Given the description of an element on the screen output the (x, y) to click on. 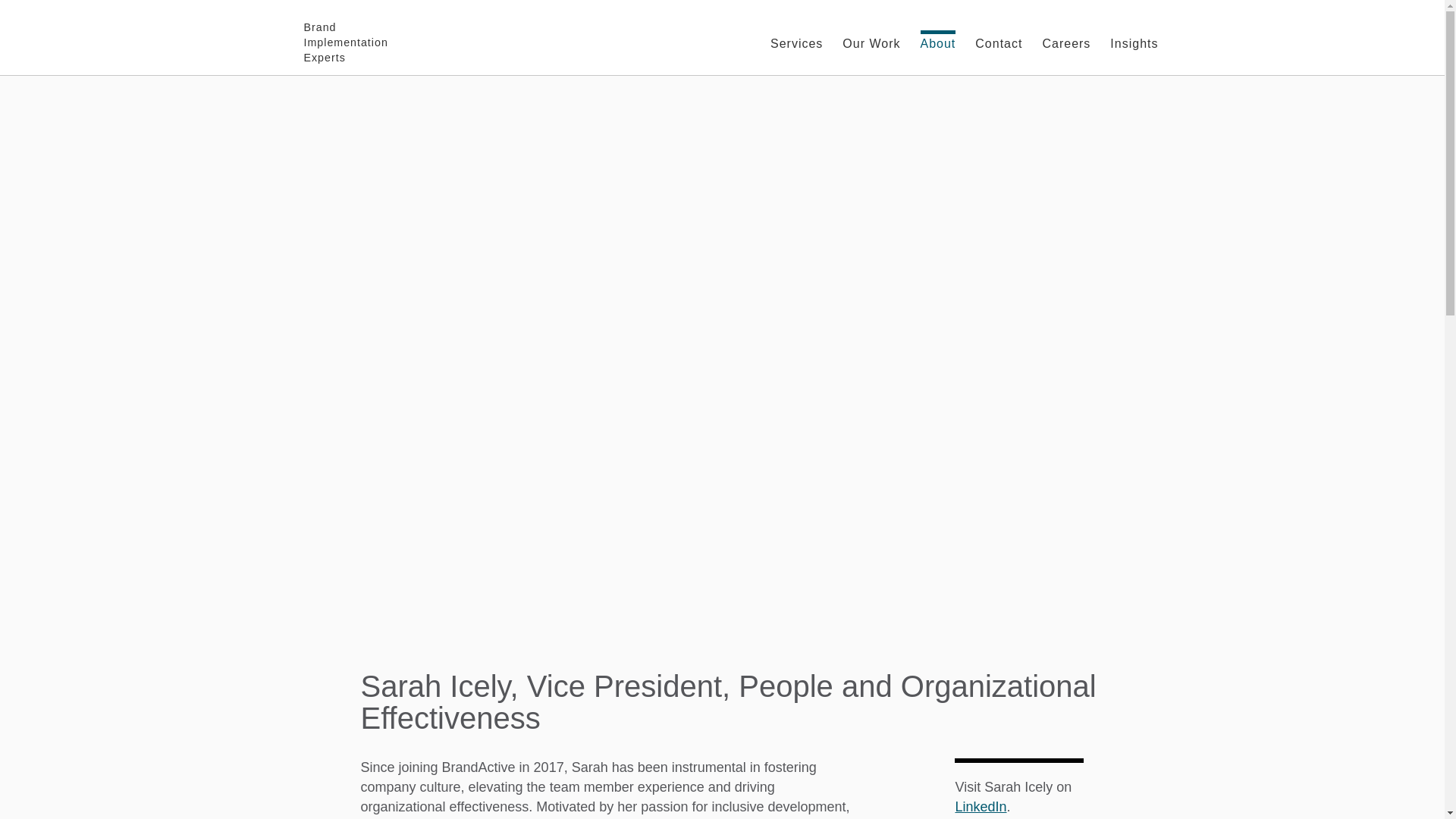
Brand Implementation Experts (344, 38)
LinkedIn (980, 806)
Insights (1133, 38)
Careers (1066, 38)
Services (796, 38)
Our Work (871, 38)
